Given the description of an element on the screen output the (x, y) to click on. 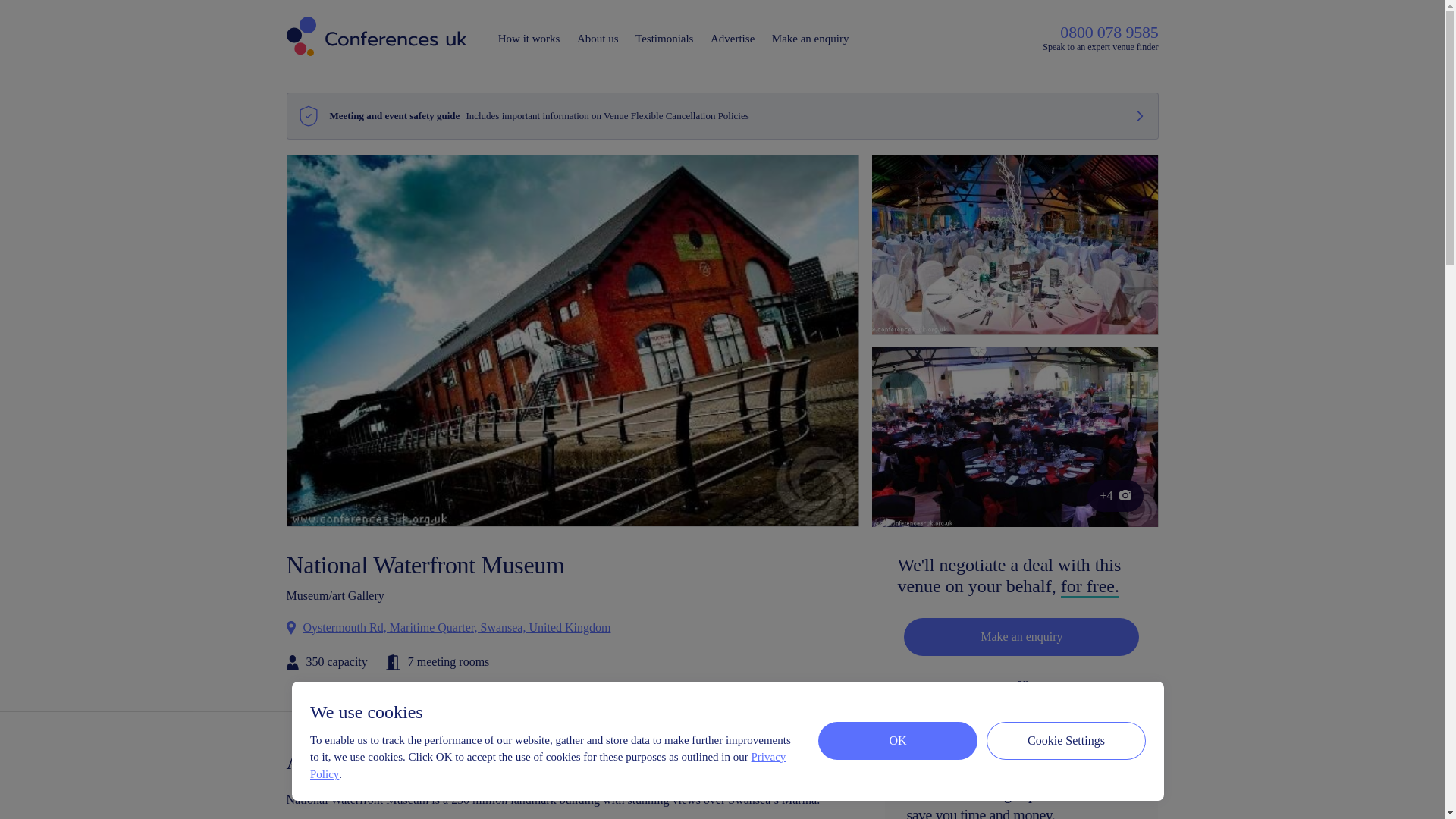
Advertise (731, 39)
Make an enquiry (809, 39)
How it works (529, 39)
OK (897, 740)
0800 078 9585 (1109, 32)
Conferences UK (376, 37)
Testimonials (664, 39)
About us (598, 39)
Oystermouth Rd, Maritime Quarter, Swansea, United Kingdom (449, 627)
Cookie Settings (1066, 740)
Privacy Policy (548, 765)
0800 078 9585 (1050, 714)
Make an enquiry (1021, 637)
